Given the description of an element on the screen output the (x, y) to click on. 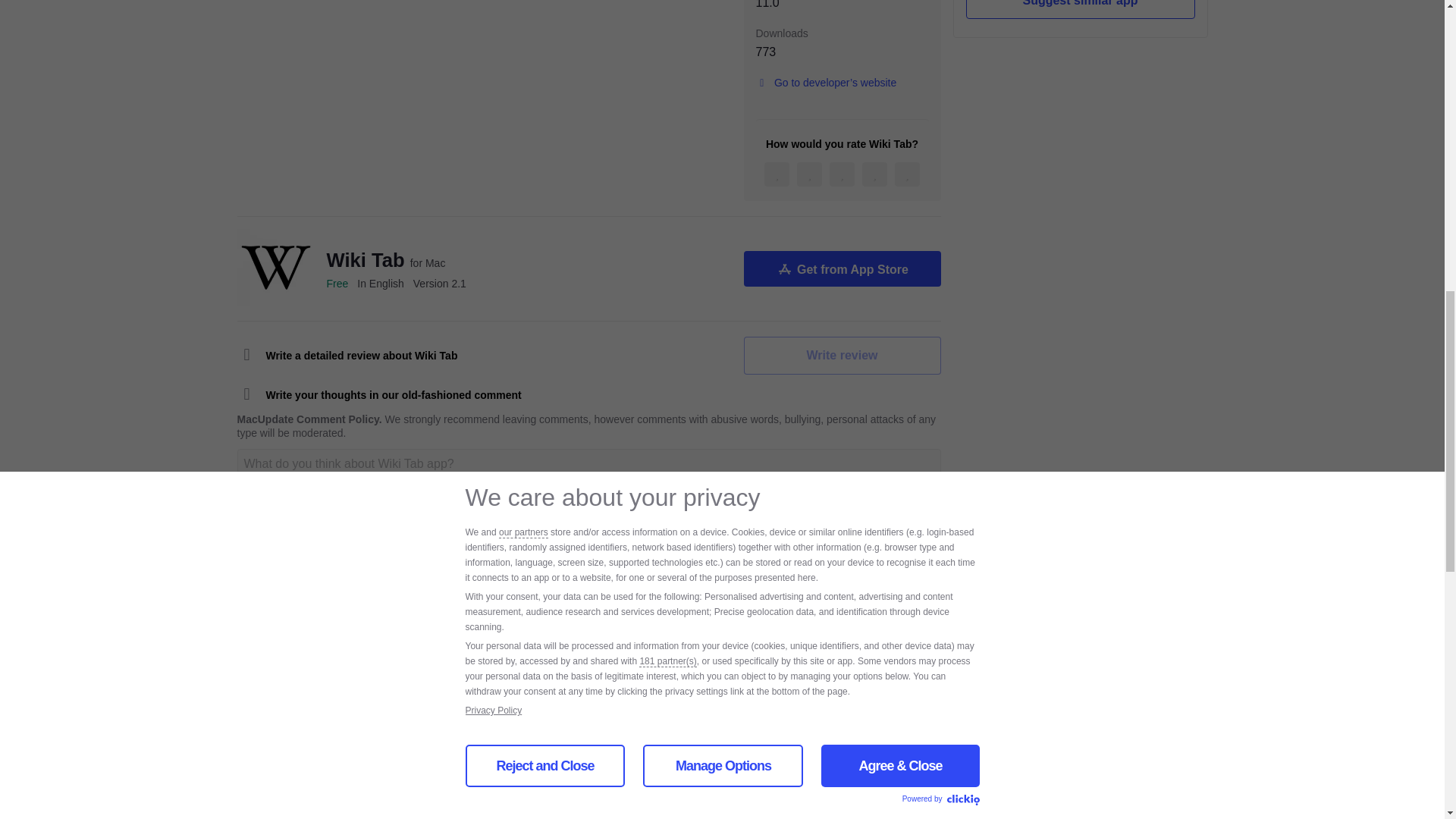
Bittersweet (346, 805)
Version: 1.1 (843, 806)
2.1 (439, 283)
Version: 1.1 (843, 711)
Bittersweet (346, 710)
